Given the description of an element on the screen output the (x, y) to click on. 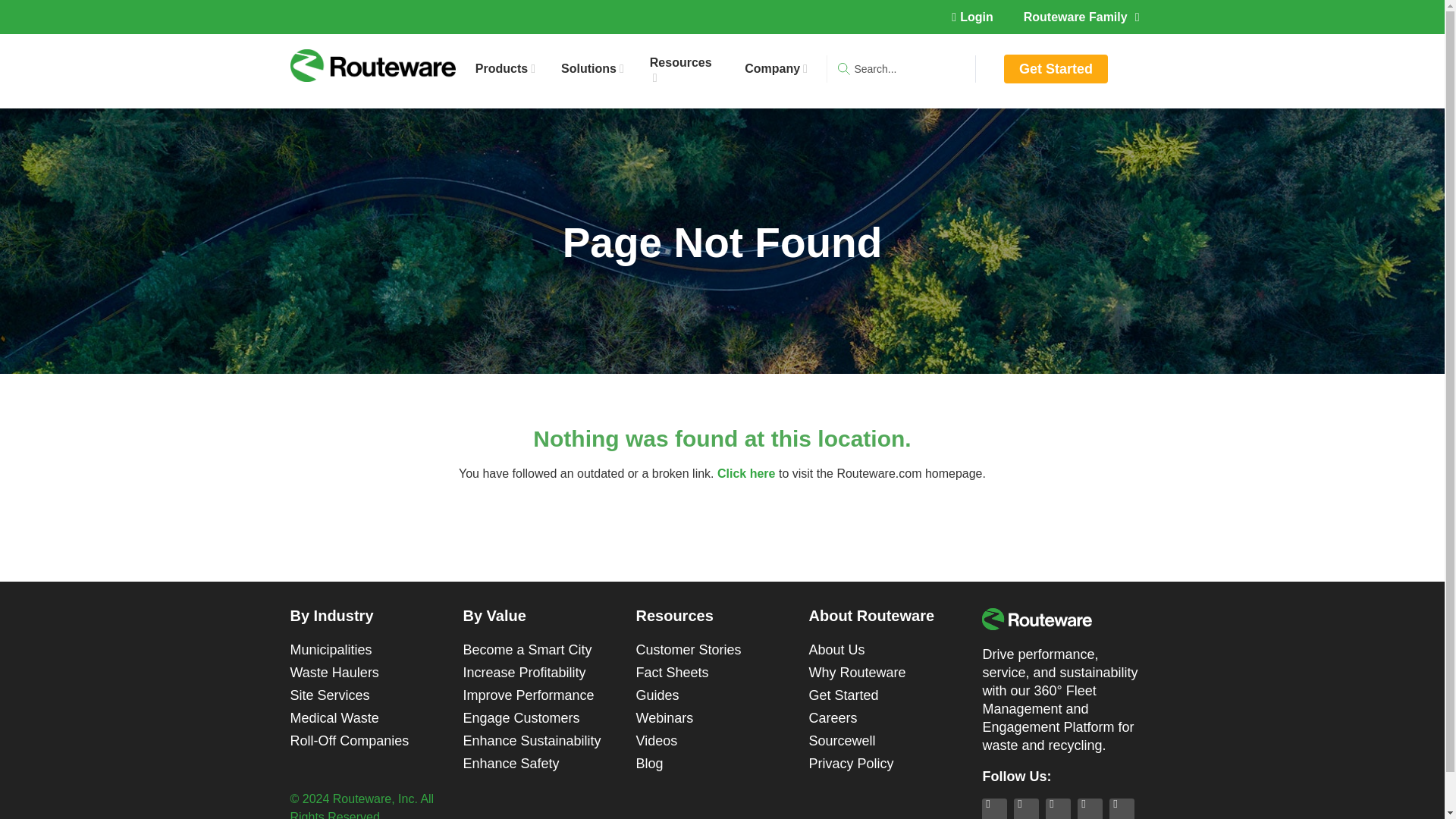
Routeware Family (1081, 17)
Products (505, 69)
Login (972, 17)
